Given the description of an element on the screen output the (x, y) to click on. 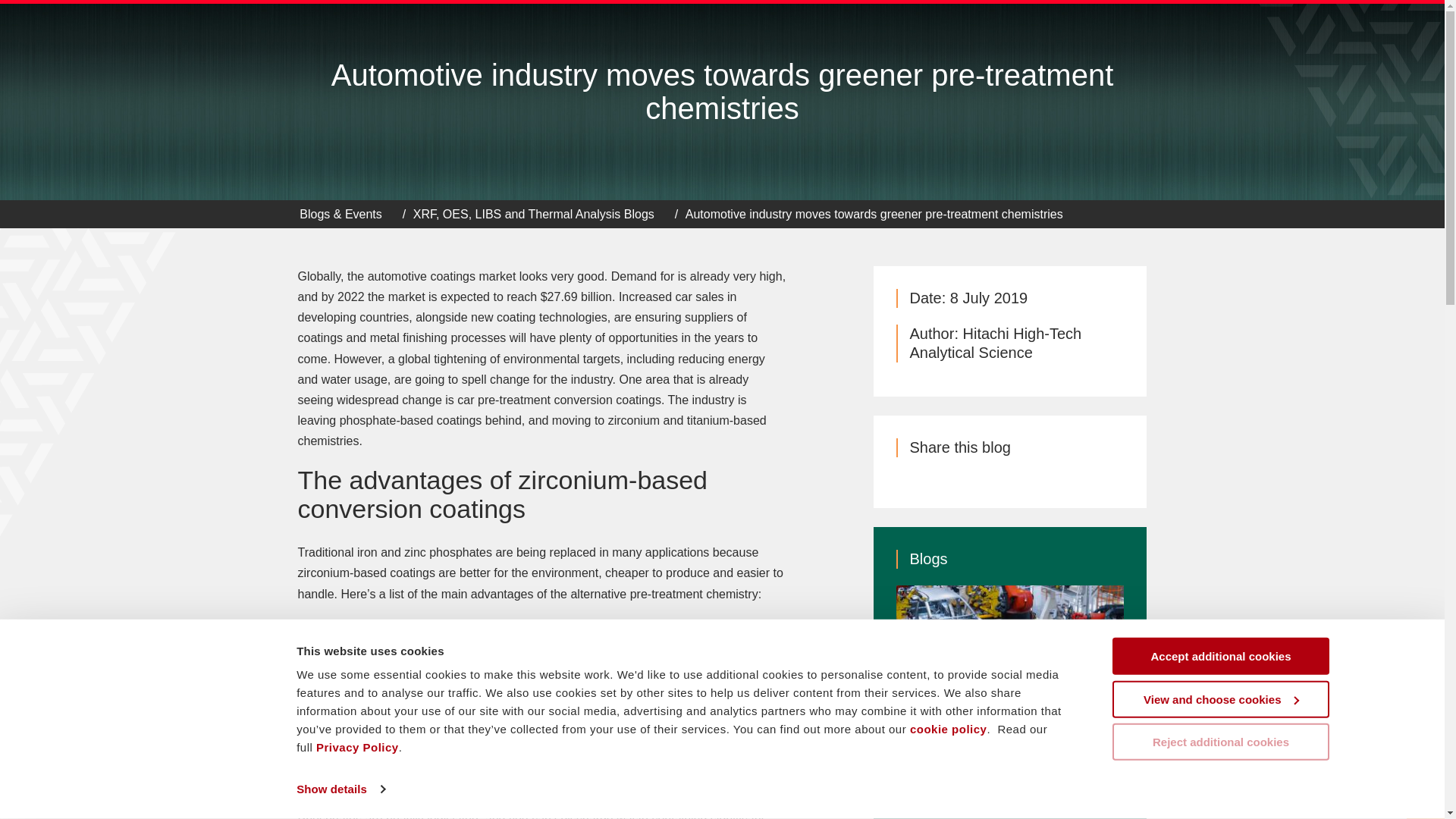
cookie policy (947, 728)
Show details (340, 789)
Privacy Policy (356, 747)
